Given the description of an element on the screen output the (x, y) to click on. 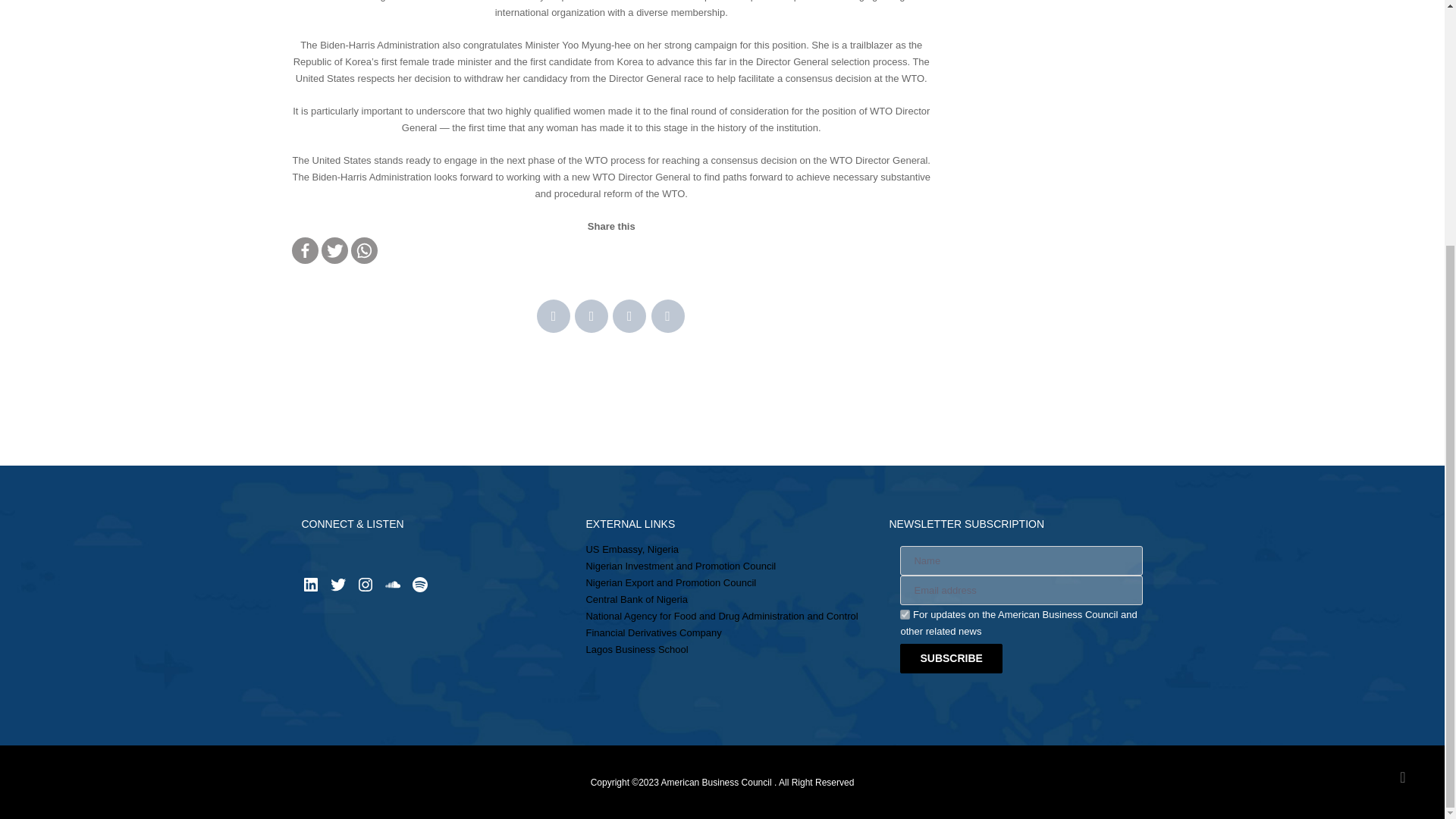
Whatsapp (363, 250)
Twitter (334, 250)
Twitter (591, 315)
Subscribe (950, 658)
Facebook (553, 315)
Pinterest (667, 315)
Google Plus (629, 315)
US Embassy, Nigeria (631, 549)
on (904, 614)
Facebook (304, 250)
